Given the description of an element on the screen output the (x, y) to click on. 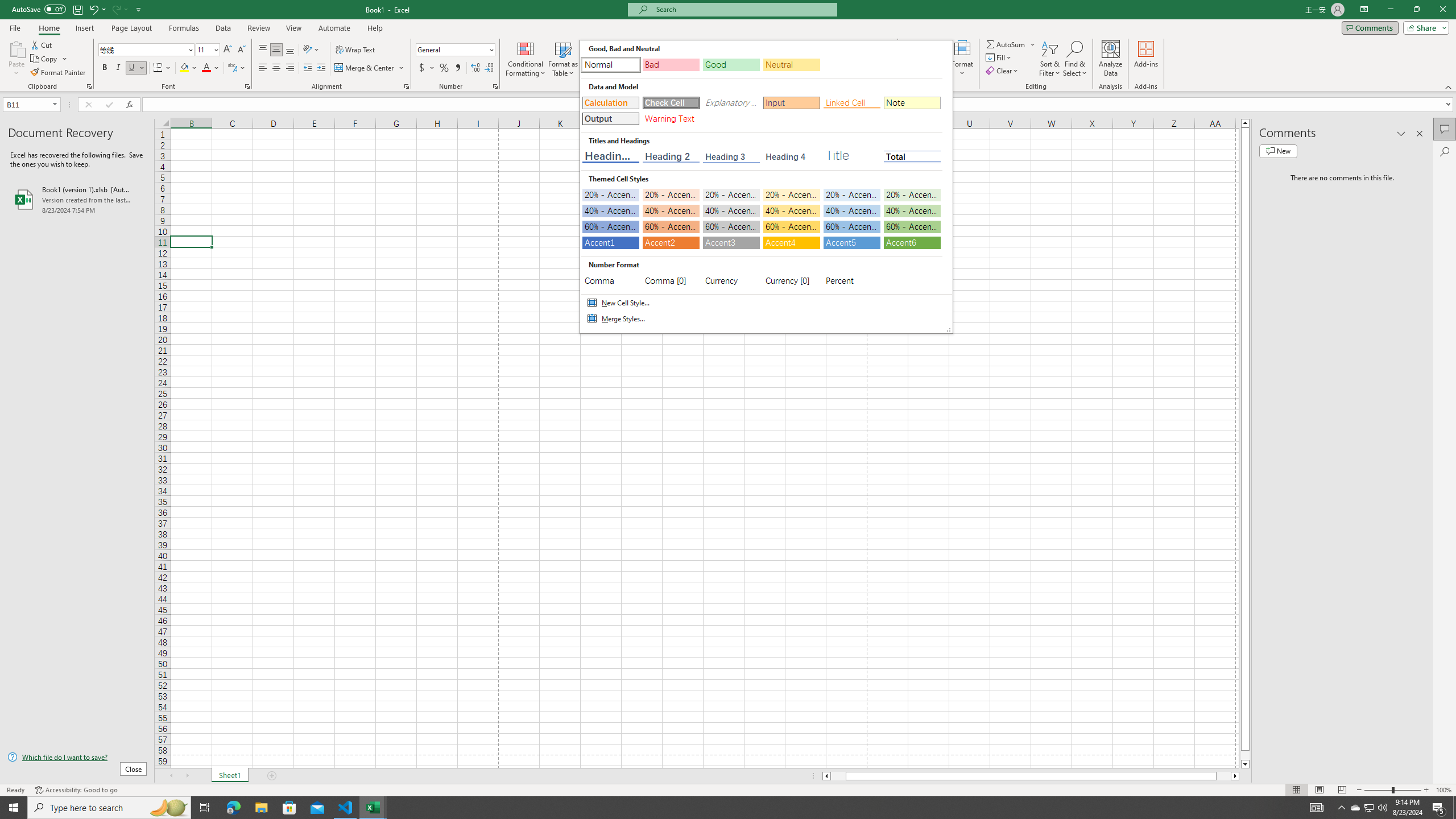
Decrease Decimal (489, 67)
Align Left (262, 67)
Underline (131, 67)
Fill (999, 56)
Font Color (210, 67)
Align Right (290, 67)
